Given the description of an element on the screen output the (x, y) to click on. 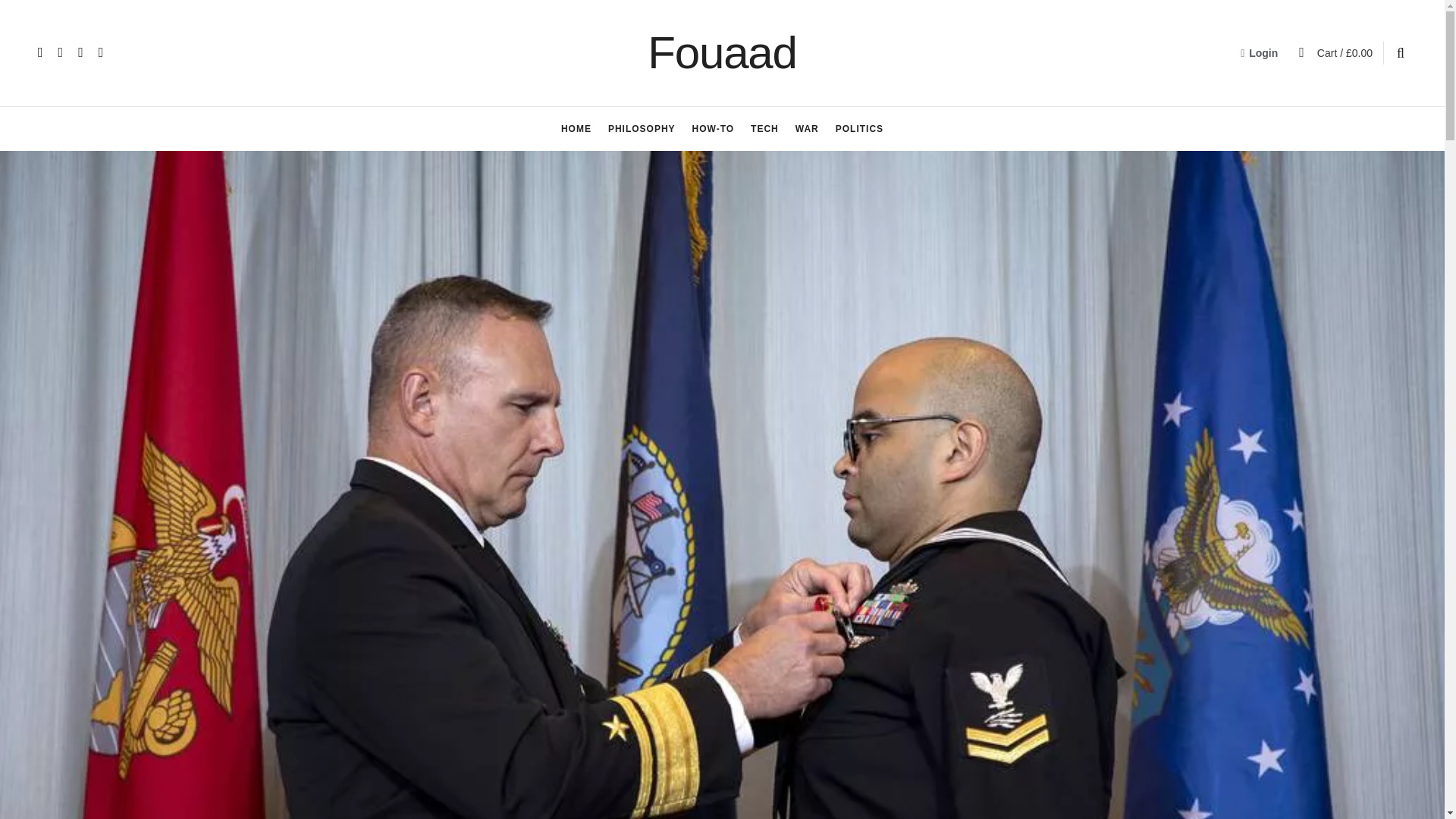
PHILOSOPHY (641, 128)
Fouaad (721, 53)
POLITICS (859, 128)
HOW-TO (714, 128)
Login (1259, 53)
